Given the description of an element on the screen output the (x, y) to click on. 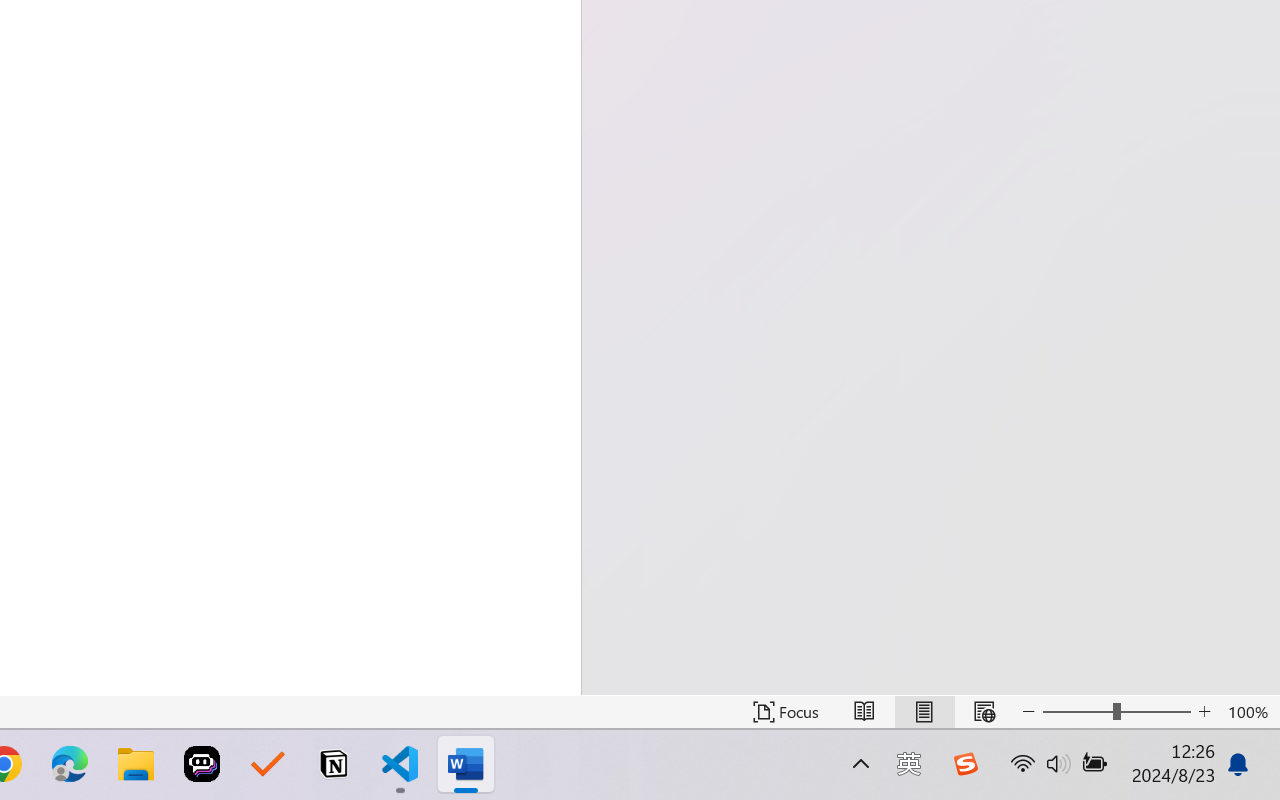
Zoom 100% (1249, 712)
